Given the description of an element on the screen output the (x, y) to click on. 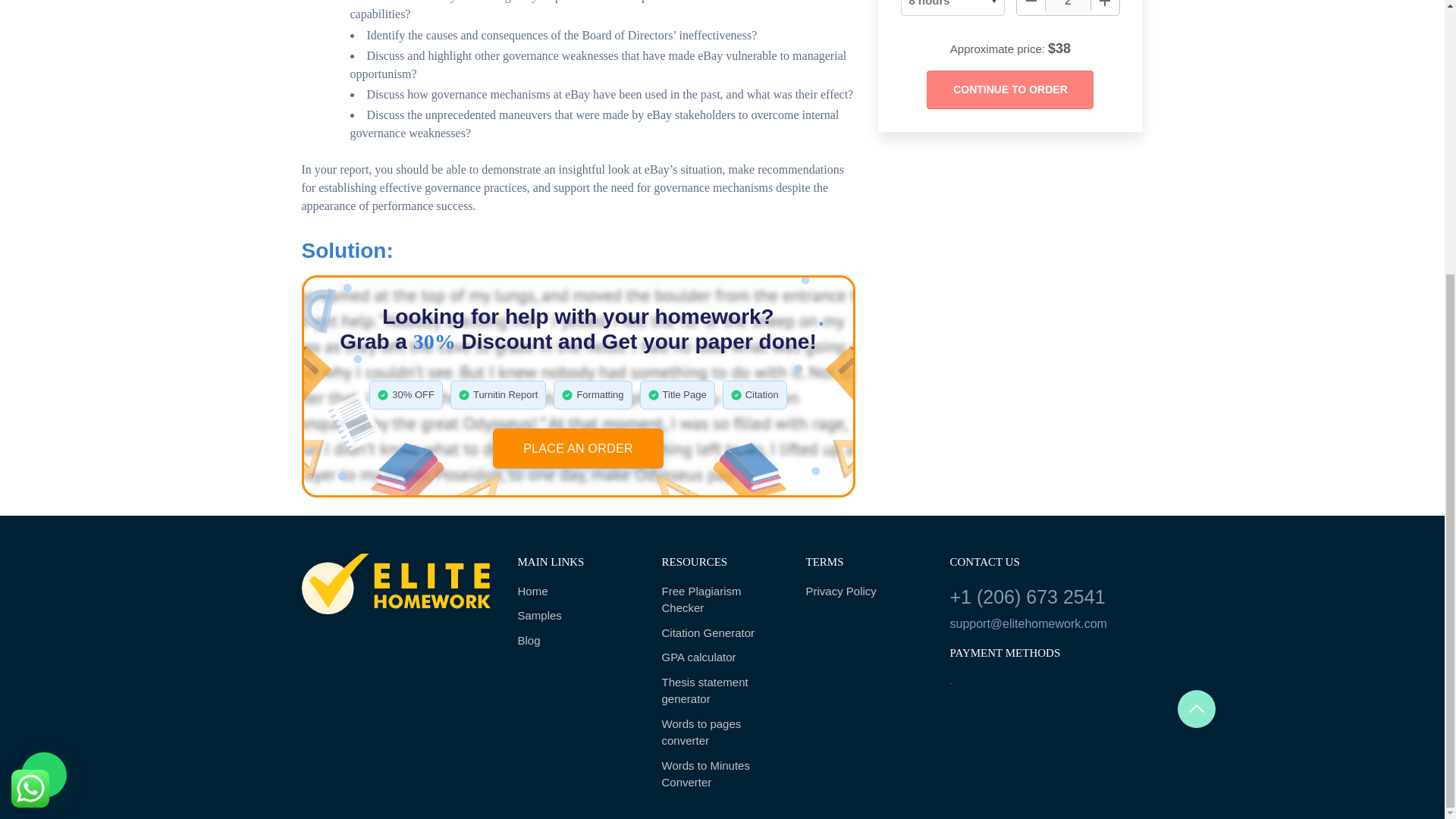
Increase (1104, 7)
Thesis statement generator (722, 691)
GPA calculator (722, 657)
PLACE AN ORDER (578, 448)
Continue to order (1009, 89)
Citation Generator (722, 633)
Decrease (1030, 7)
Privacy Policy (865, 591)
Blog (577, 641)
Home (577, 591)
2 (1067, 7)
Home (577, 591)
Free Plagiarism Checker (722, 600)
Citation Generator (722, 633)
GPA calculator (722, 657)
